Given the description of an element on the screen output the (x, y) to click on. 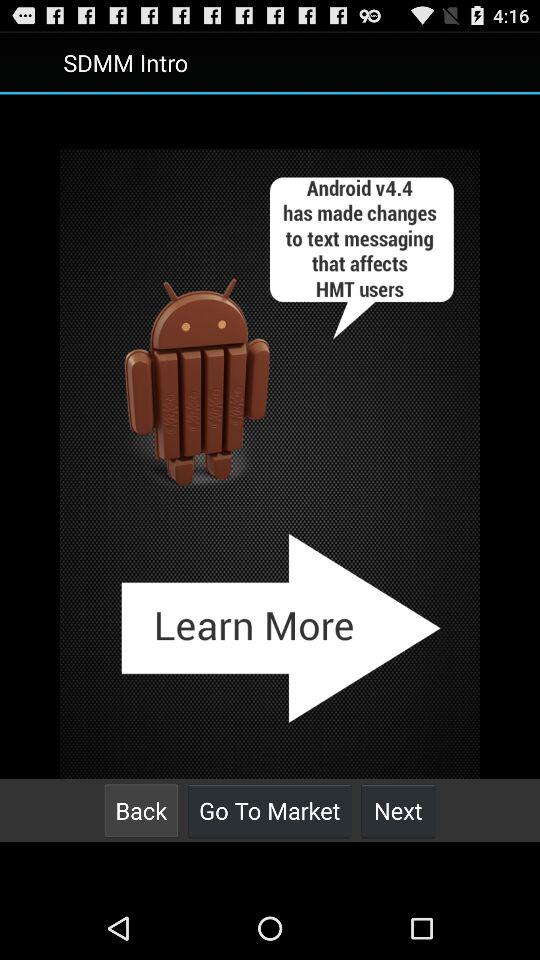
tap the button next to next icon (269, 810)
